Given the description of an element on the screen output the (x, y) to click on. 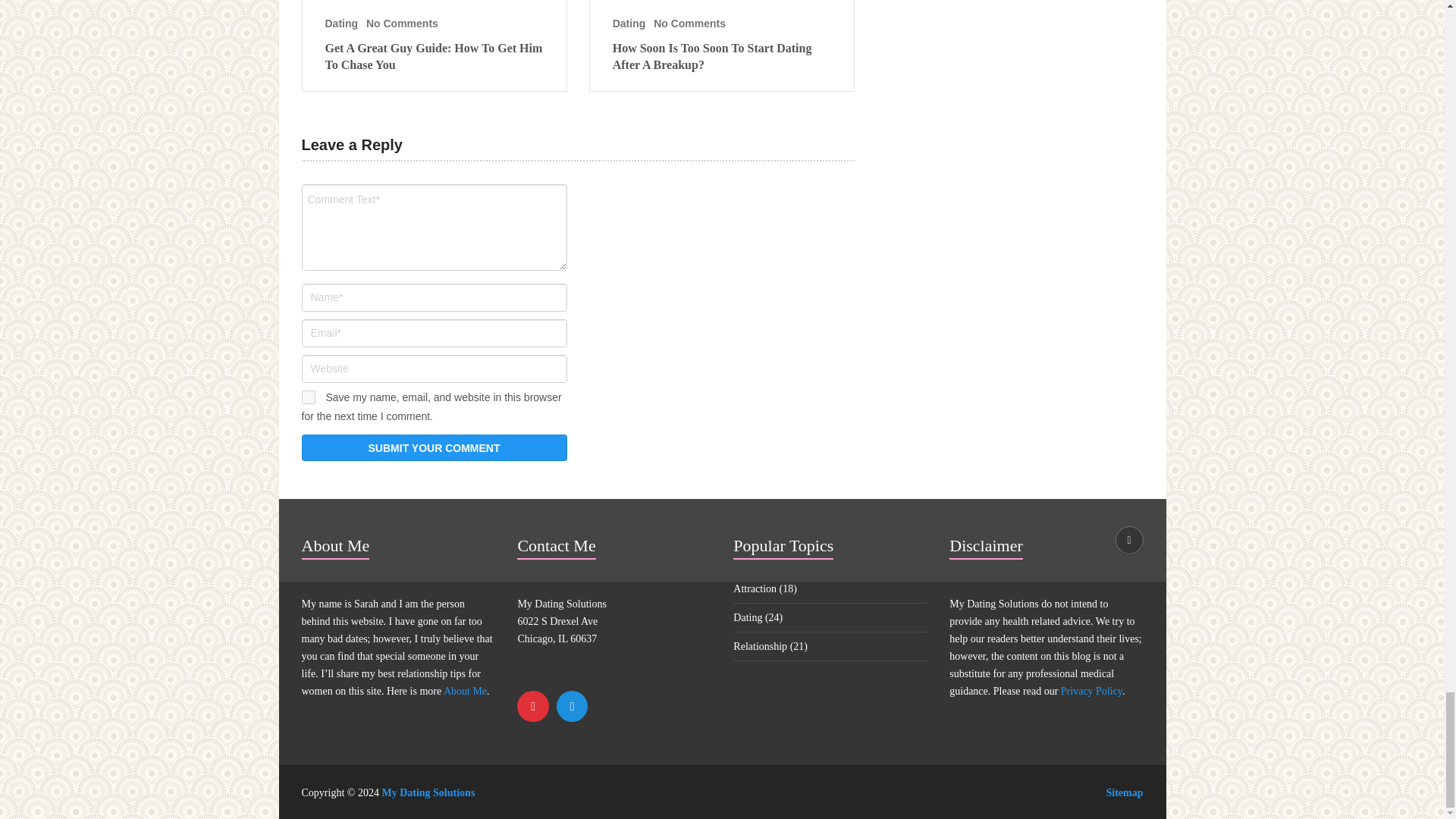
No Comments (689, 23)
Get A Great Guy Guide: How To Get Him To Chase You (433, 57)
Email (572, 706)
Relationship (760, 645)
yes (308, 397)
View all posts in Dating (341, 23)
Pinterest (532, 706)
About Me (465, 690)
Privacy Policy (1091, 690)
Submit Your Comment (434, 447)
Get A Great Guy Guide: How To Get Him To Chase You (433, 57)
Dating (747, 617)
Attraction (754, 588)
Sitemap (1123, 792)
View all posts in Dating (629, 23)
